Given the description of an element on the screen output the (x, y) to click on. 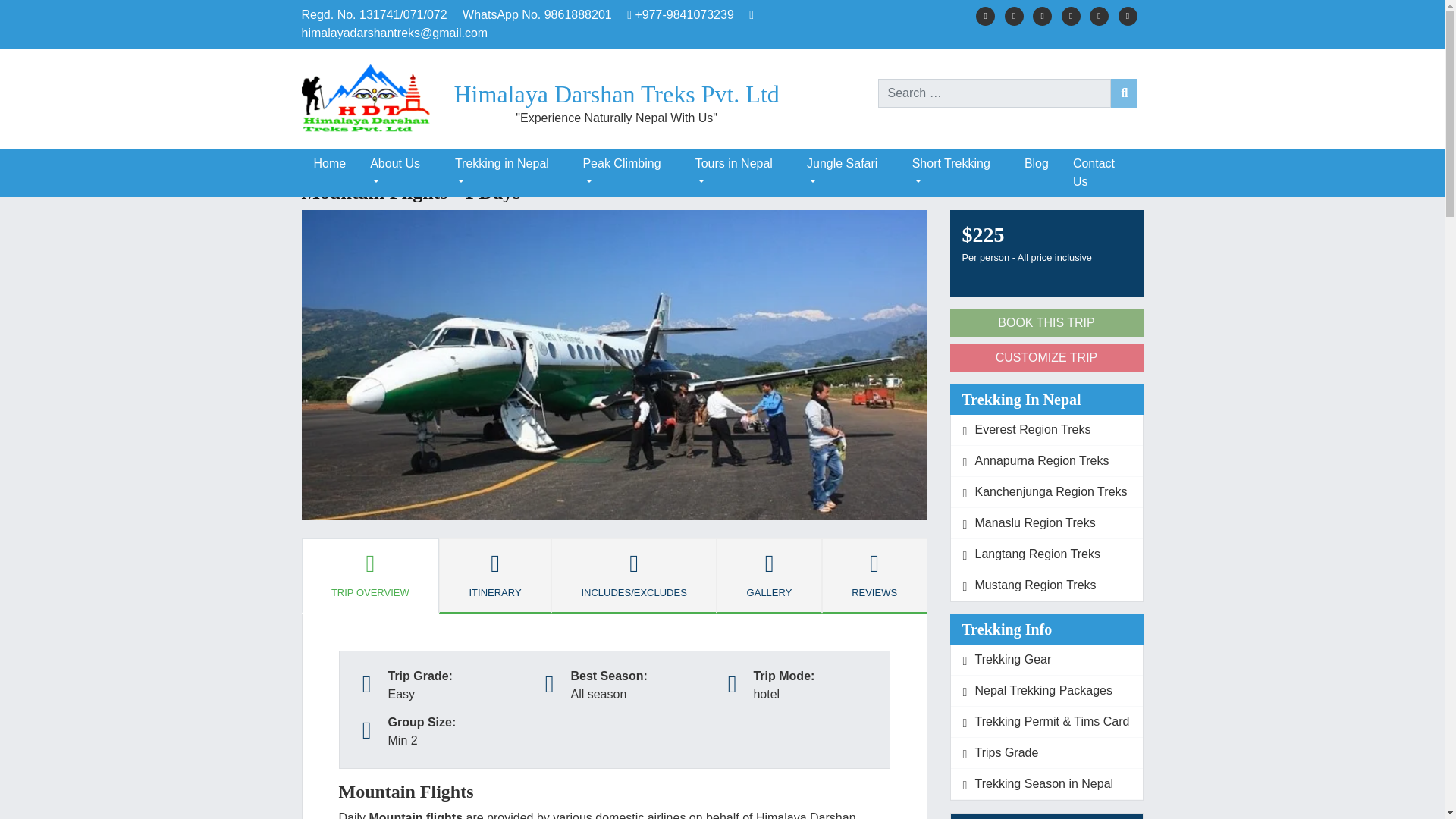
Trekking in Nepal (506, 172)
About Us (400, 172)
Trekking in Nepal (506, 172)
Home (329, 163)
Home (329, 163)
About Us (400, 172)
